Given the description of an element on the screen output the (x, y) to click on. 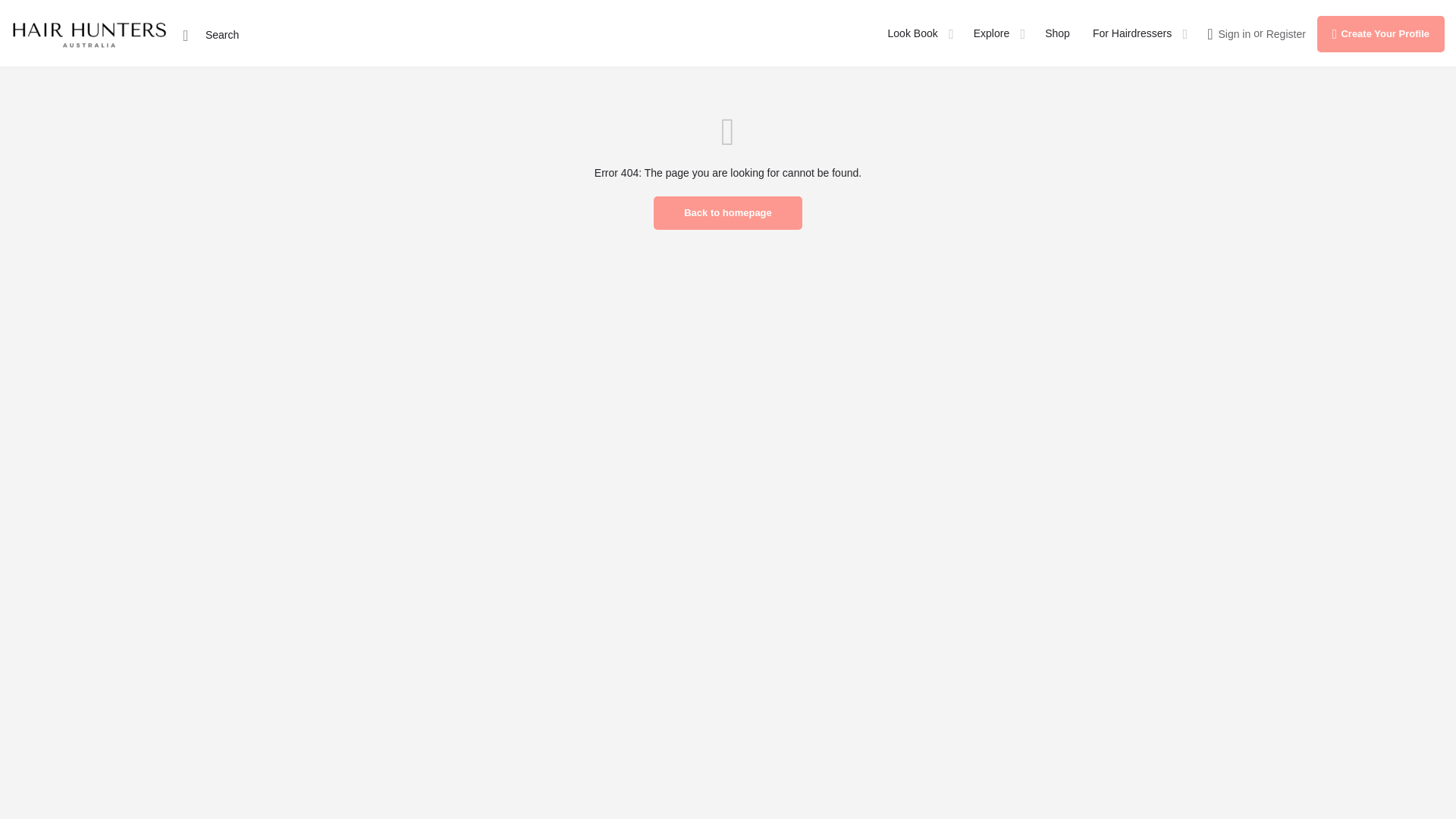
Explore (991, 32)
Sign in (1233, 33)
Create Your Profile (1380, 33)
Look Book (912, 32)
Shop (1057, 32)
For Hairdressers (1132, 32)
Back to homepage (727, 213)
Register (1286, 33)
